Given the description of an element on the screen output the (x, y) to click on. 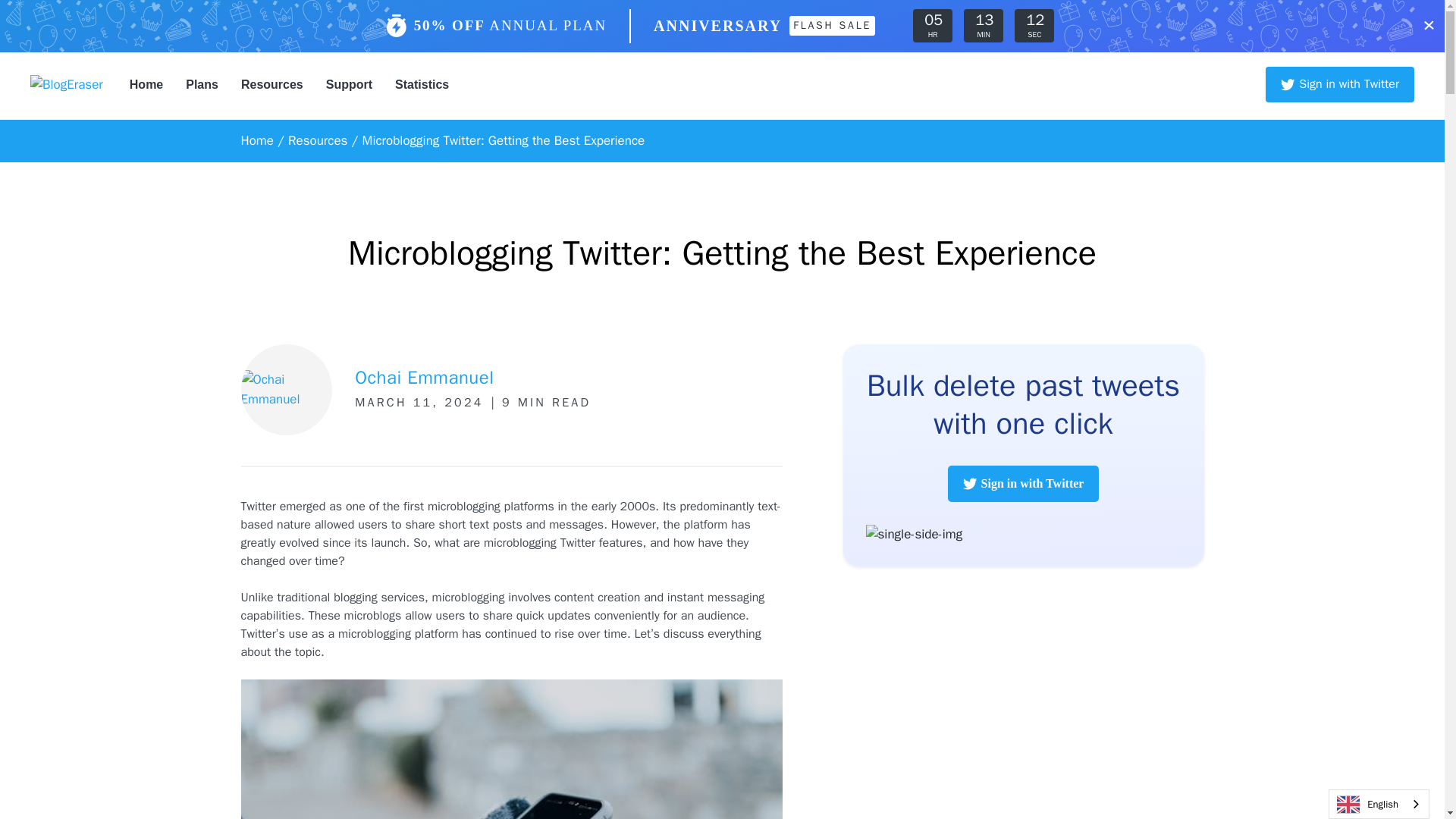
Resources (272, 84)
Sign in with Twitter (1023, 484)
Statistics (422, 84)
Support (349, 84)
Sign in with Twitter (1339, 84)
Ochai Emmanuel (424, 377)
Home (257, 140)
Home (145, 84)
Resources (317, 140)
Plans (202, 84)
